Given the description of an element on the screen output the (x, y) to click on. 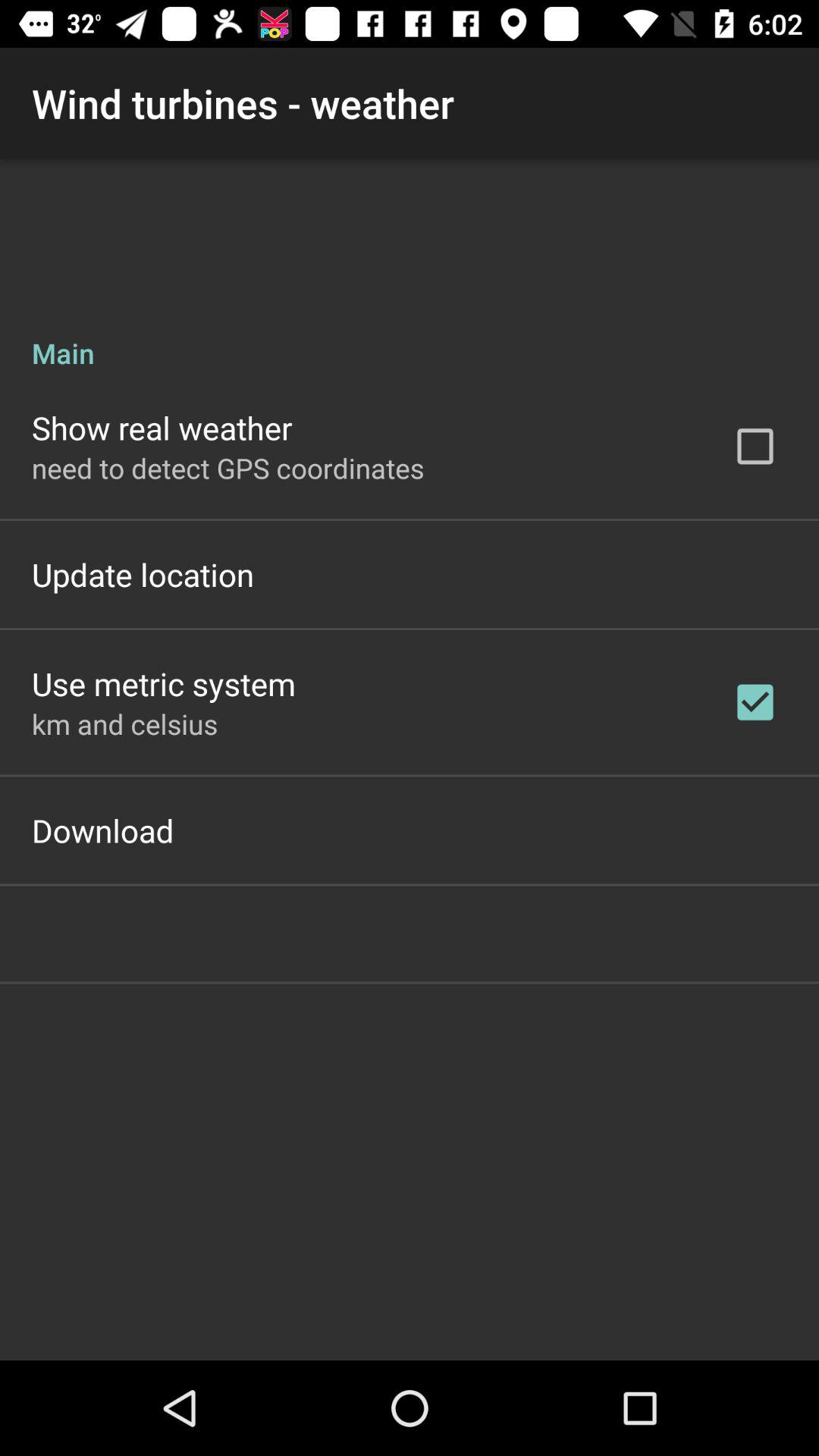
flip until show real weather (161, 427)
